Given the description of an element on the screen output the (x, y) to click on. 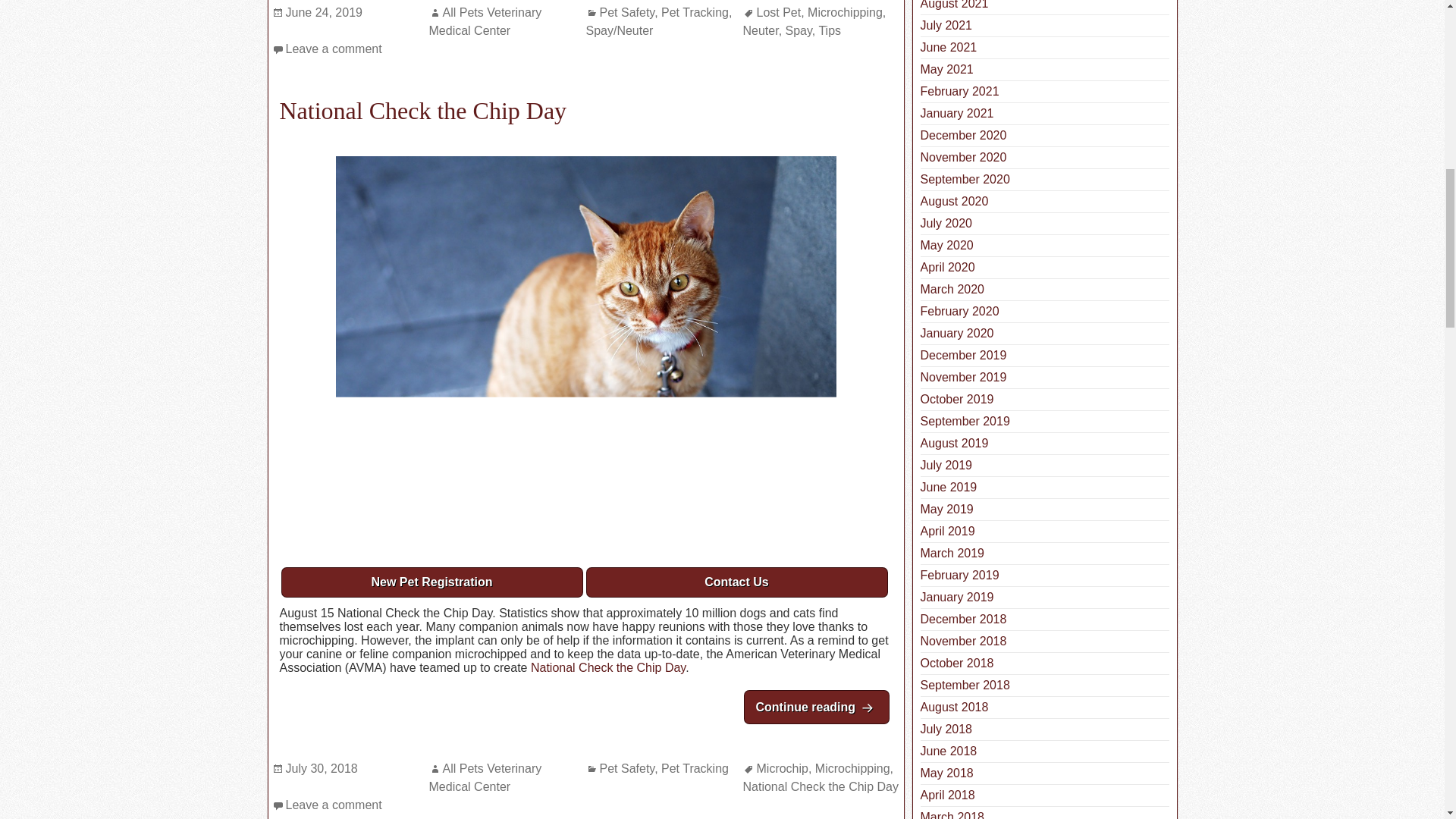
Pet Safety (625, 12)
Pet Tracking (695, 12)
Lost Pet (779, 12)
All Pets Veterinary Medical Center (485, 21)
June 24, 2019 (323, 12)
Neuter (760, 30)
Spay (799, 30)
Microchipping (845, 12)
